Given the description of an element on the screen output the (x, y) to click on. 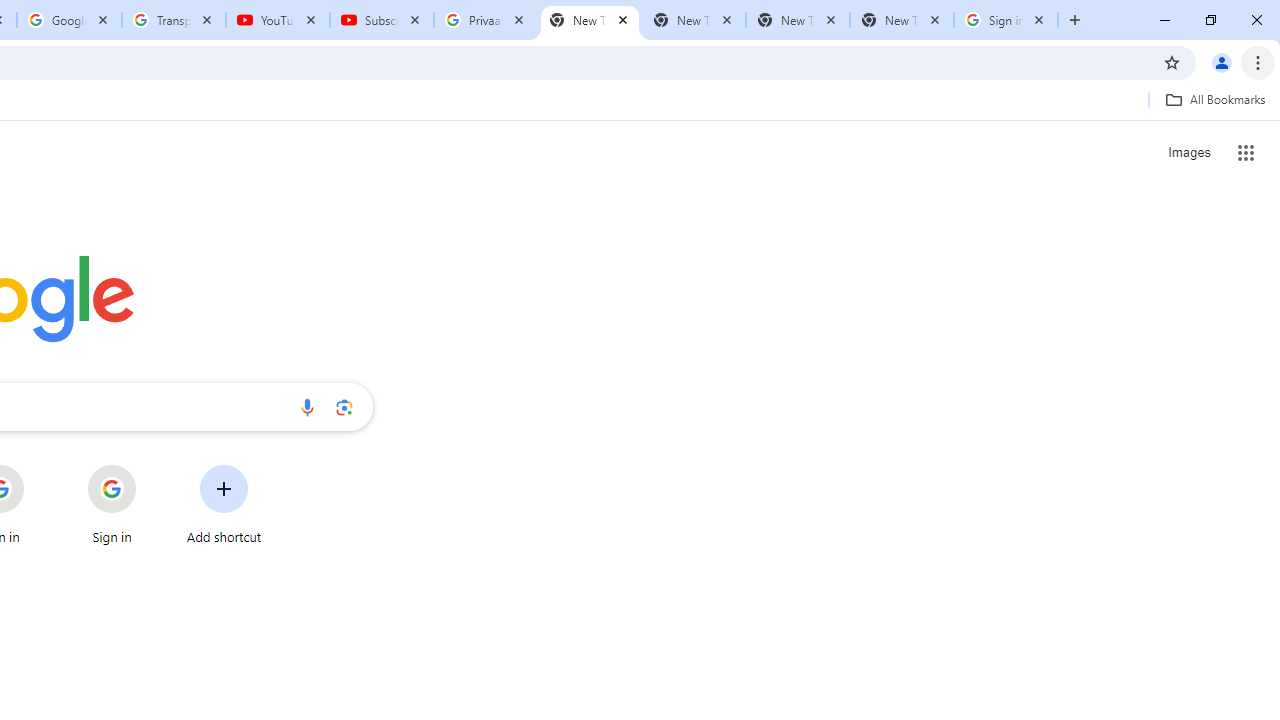
Add shortcut (223, 504)
More actions for Sign in shortcut (152, 466)
Search for Images  (1188, 152)
Google Account (68, 20)
Subscriptions - YouTube (381, 20)
New Tab (589, 20)
New Tab (901, 20)
All Bookmarks (1215, 99)
Sign in - Google Accounts (1005, 20)
Search by voice (307, 407)
